Given the description of an element on the screen output the (x, y) to click on. 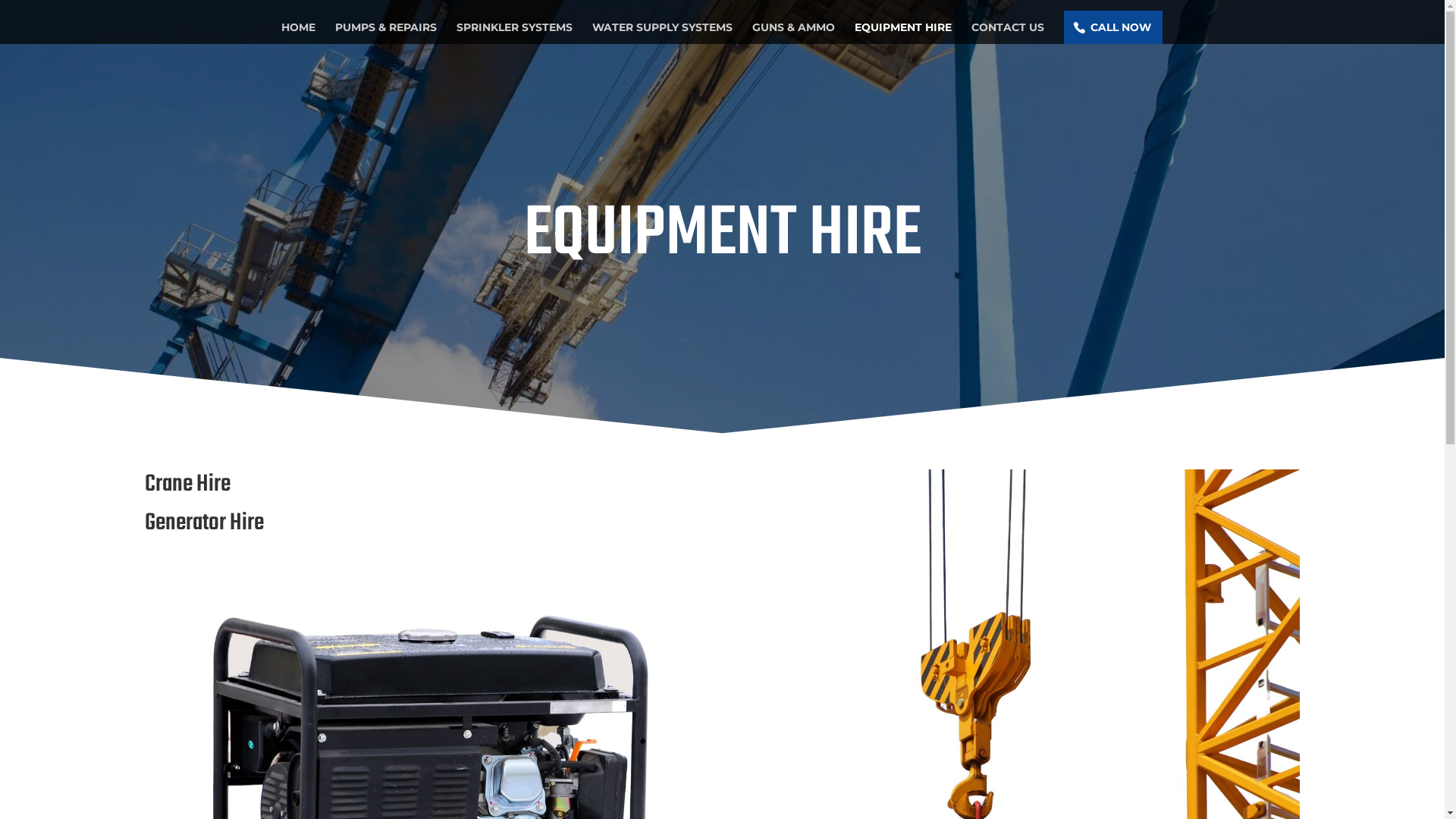
SPRINKLER SYSTEMS Element type: text (514, 32)
EQUIPMENT HIRE Element type: text (901, 32)
GUNS & AMMO Element type: text (793, 32)
CONTACT US Element type: text (1006, 32)
PUMPS & REPAIRS Element type: text (385, 32)
HOME Element type: text (297, 32)
WATER SUPPLY SYSTEMS Element type: text (661, 32)
CALL NOW Element type: text (1112, 26)
